Given the description of an element on the screen output the (x, y) to click on. 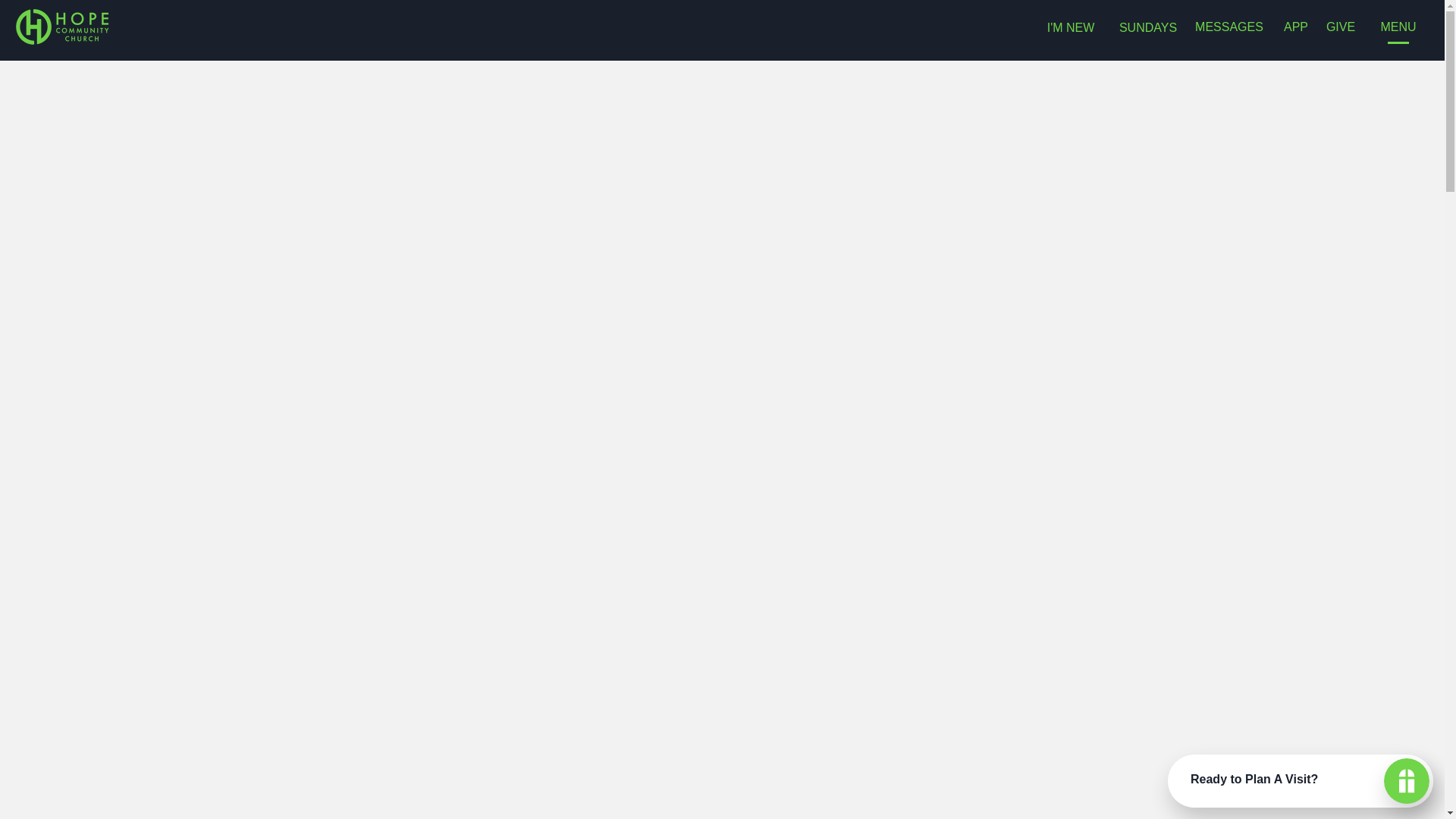
APP (1295, 27)
SUNDAYS (1147, 28)
MESSAGES (1228, 27)
Embedded Content (769, 26)
MENU (1398, 27)
I'M NEW (1070, 28)
GIVE (1340, 27)
